Given the description of an element on the screen output the (x, y) to click on. 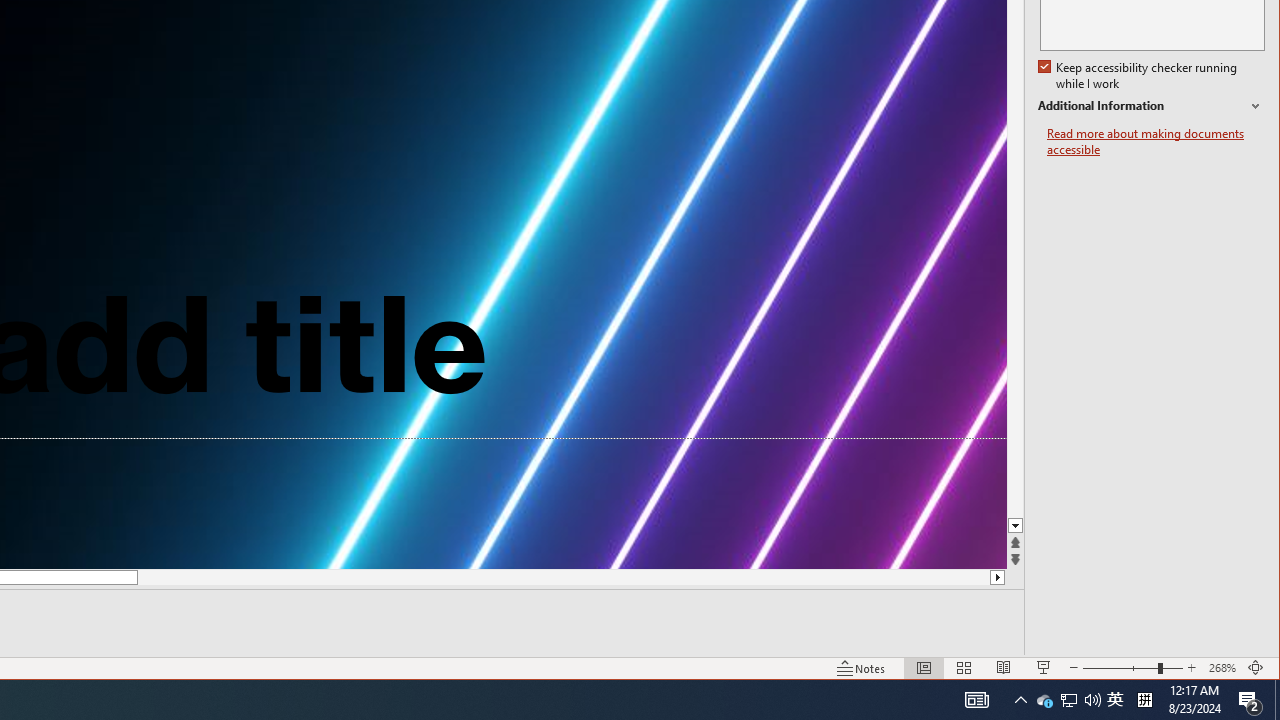
Zoom 268% (1222, 668)
